Given the description of an element on the screen output the (x, y) to click on. 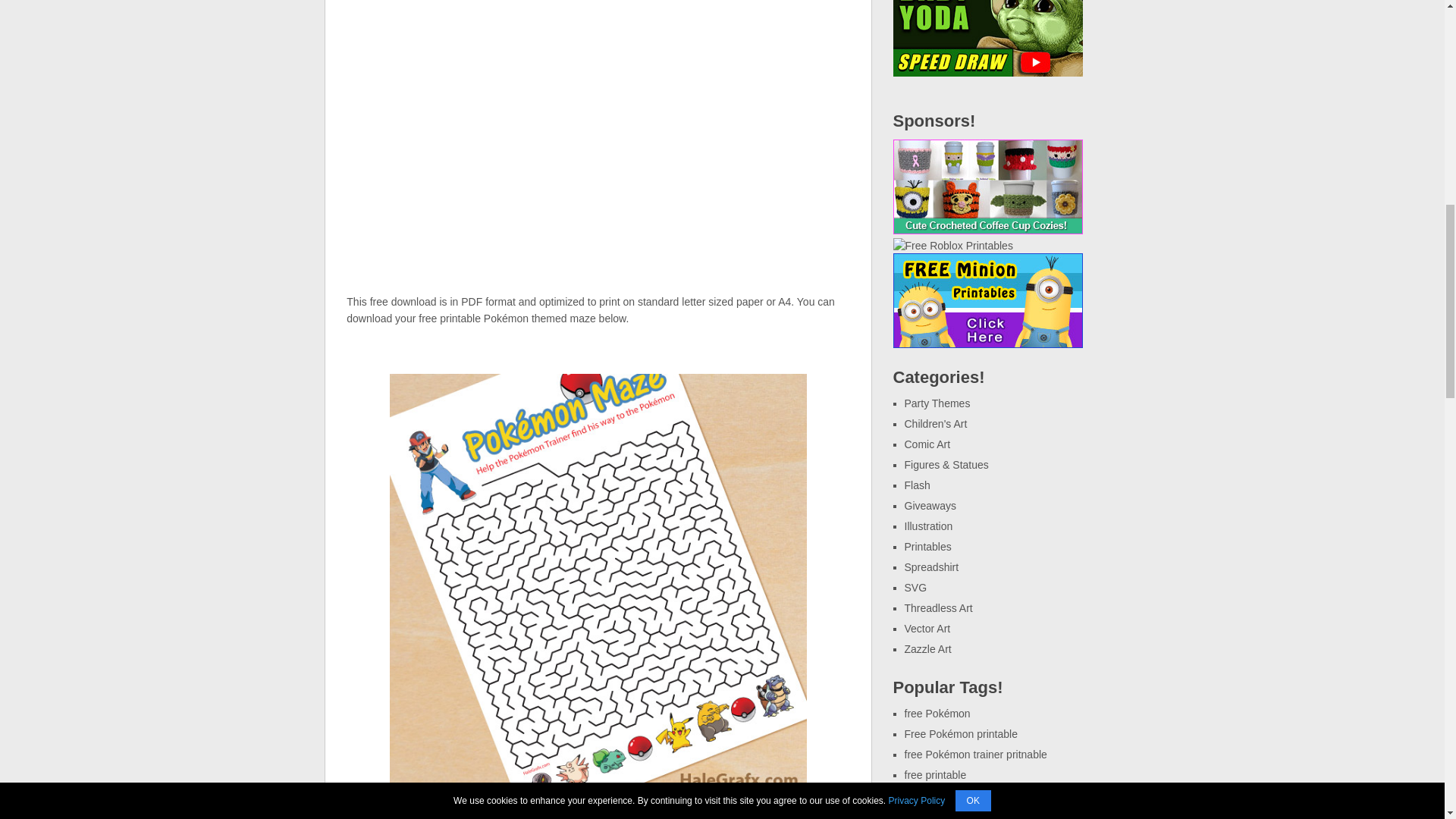
Party Themes (936, 403)
Giveaways (929, 505)
Comic Art (927, 444)
Flash (917, 485)
Children's Art (935, 423)
